Given the description of an element on the screen output the (x, y) to click on. 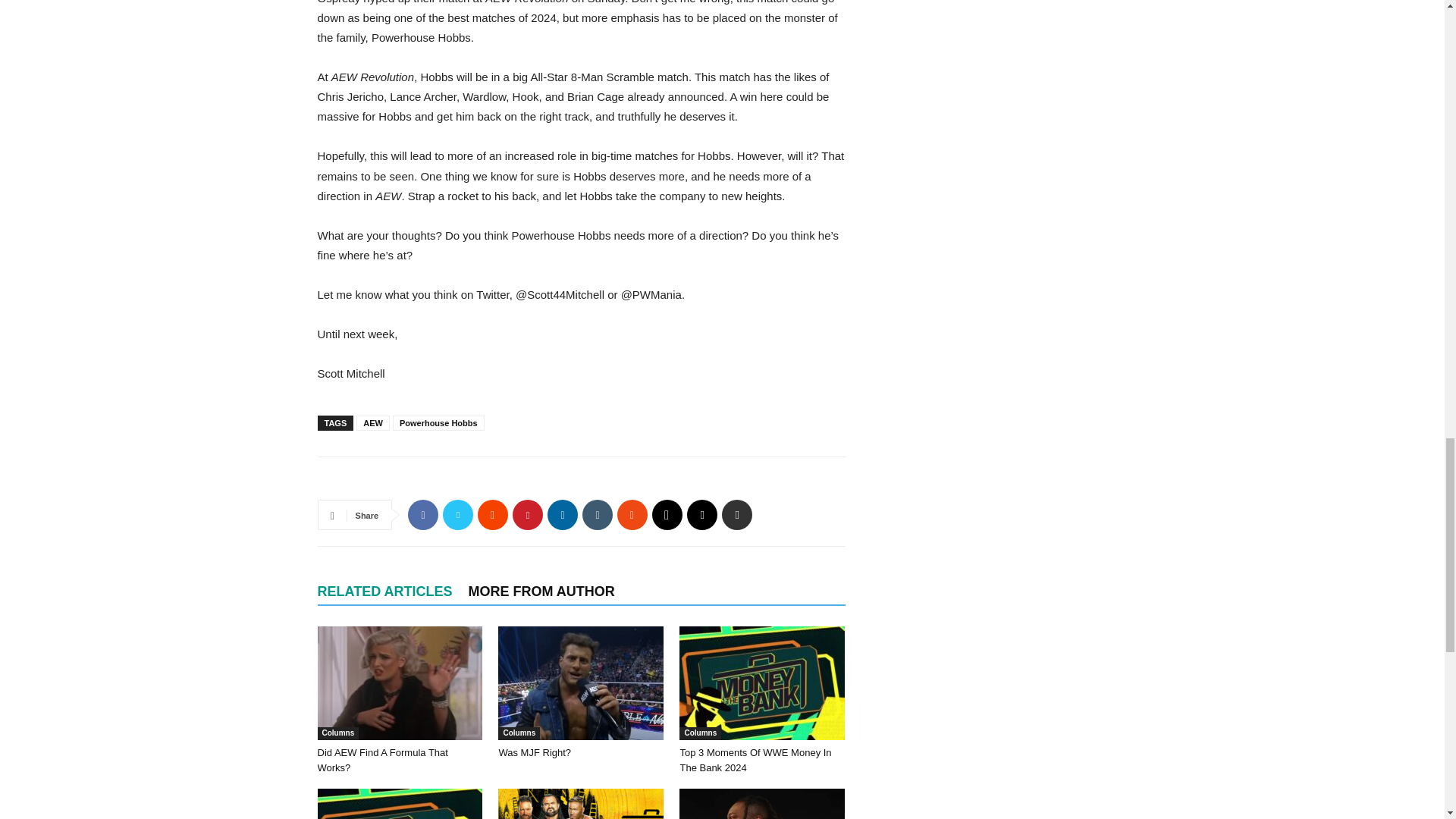
Facebook (422, 514)
ReddIt (492, 514)
bottomFacebookLike (430, 480)
Pinterest (527, 514)
Linkedin (562, 514)
Twitter (457, 514)
